Given the description of an element on the screen output the (x, y) to click on. 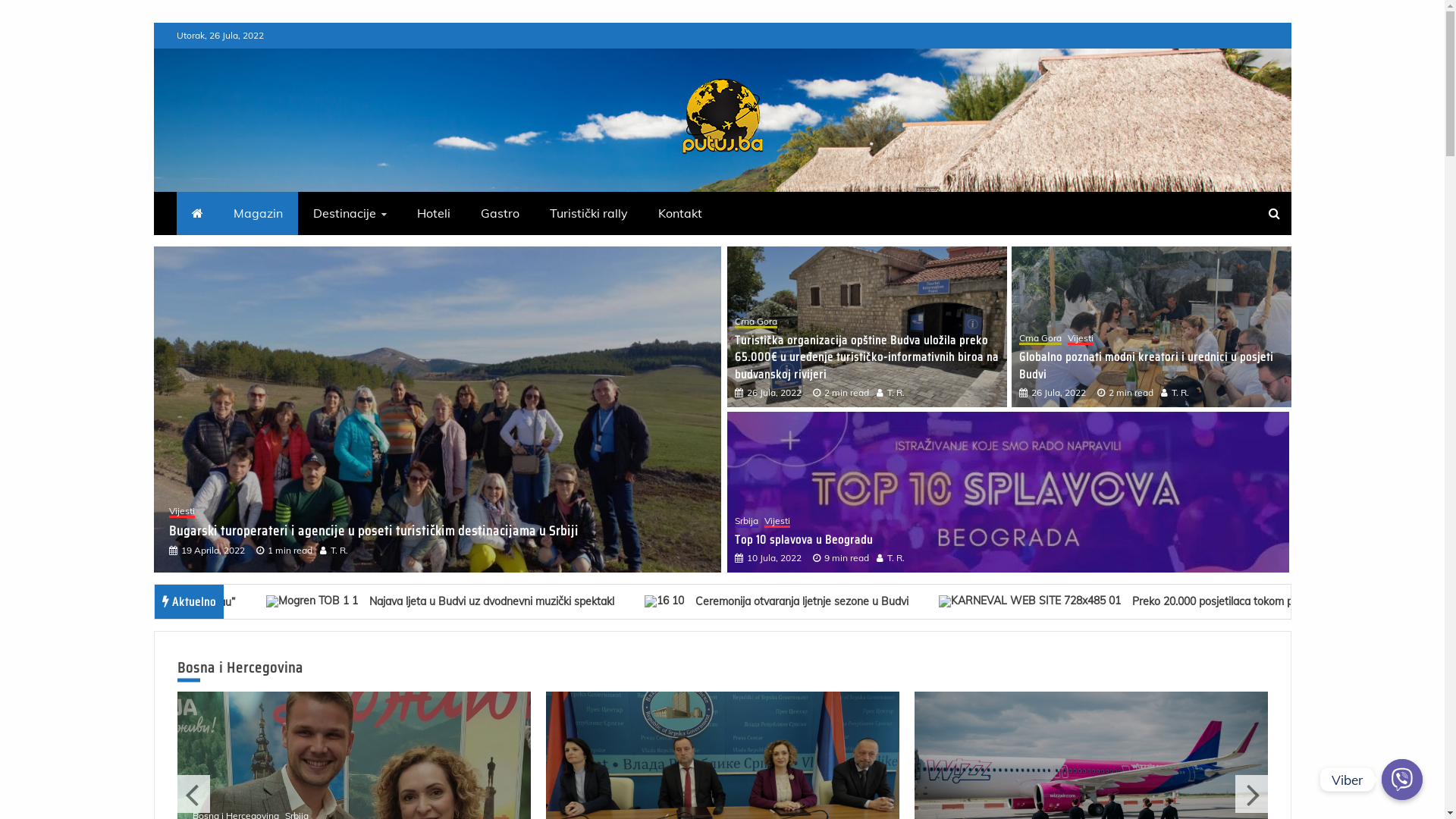
Globalno poznati modni kreatori i urednici u posjeti Budvi Element type: text (1146, 364)
Gastro Element type: text (499, 213)
Pretraga Element type: text (31, 13)
Vijesti Element type: text (777, 521)
Hoteli Element type: text (433, 213)
Crna Gora Element type: text (755, 322)
T. R. Element type: text (1182, 392)
T. R. Element type: text (386, 549)
10 Jula, 2022 Element type: text (773, 557)
Kontakt Element type: text (680, 213)
Ceremonija otvaranja ljetnje sezone u Budvi 67 Element type: hover (817, 601)
19 Aprila, 2022 Element type: text (212, 549)
Crna Gora Element type: text (1040, 339)
26 Jula, 2022 Element type: text (1058, 392)
Top 10 splavova u Beogradu Element type: text (803, 539)
26 Jula, 2022 Element type: text (302, 549)
Globalno poznati modni kreatori i urednici u posjeti Budvi Element type: text (482, 530)
Srbija Element type: text (745, 521)
Vijesti Element type: text (181, 511)
T. R. Element type: text (331, 549)
T. R. Element type: text (899, 557)
Preko 20.000 posjetilaca tokom prethodnog vikenda u Budvi 68 Element type: hover (1176, 601)
Skip to content Element type: text (153, 21)
Previous Element type: text (193, 793)
Magazin Element type: text (258, 213)
Next Element type: text (1250, 793)
Vijesti Element type: text (506, 511)
T. R. Element type: text (899, 392)
Vijesti Element type: text (1080, 339)
26 Jula, 2022 Element type: text (773, 392)
Crna Gora Element type: text (589, 511)
Destinacije Element type: text (349, 213)
